Given the description of an element on the screen output the (x, y) to click on. 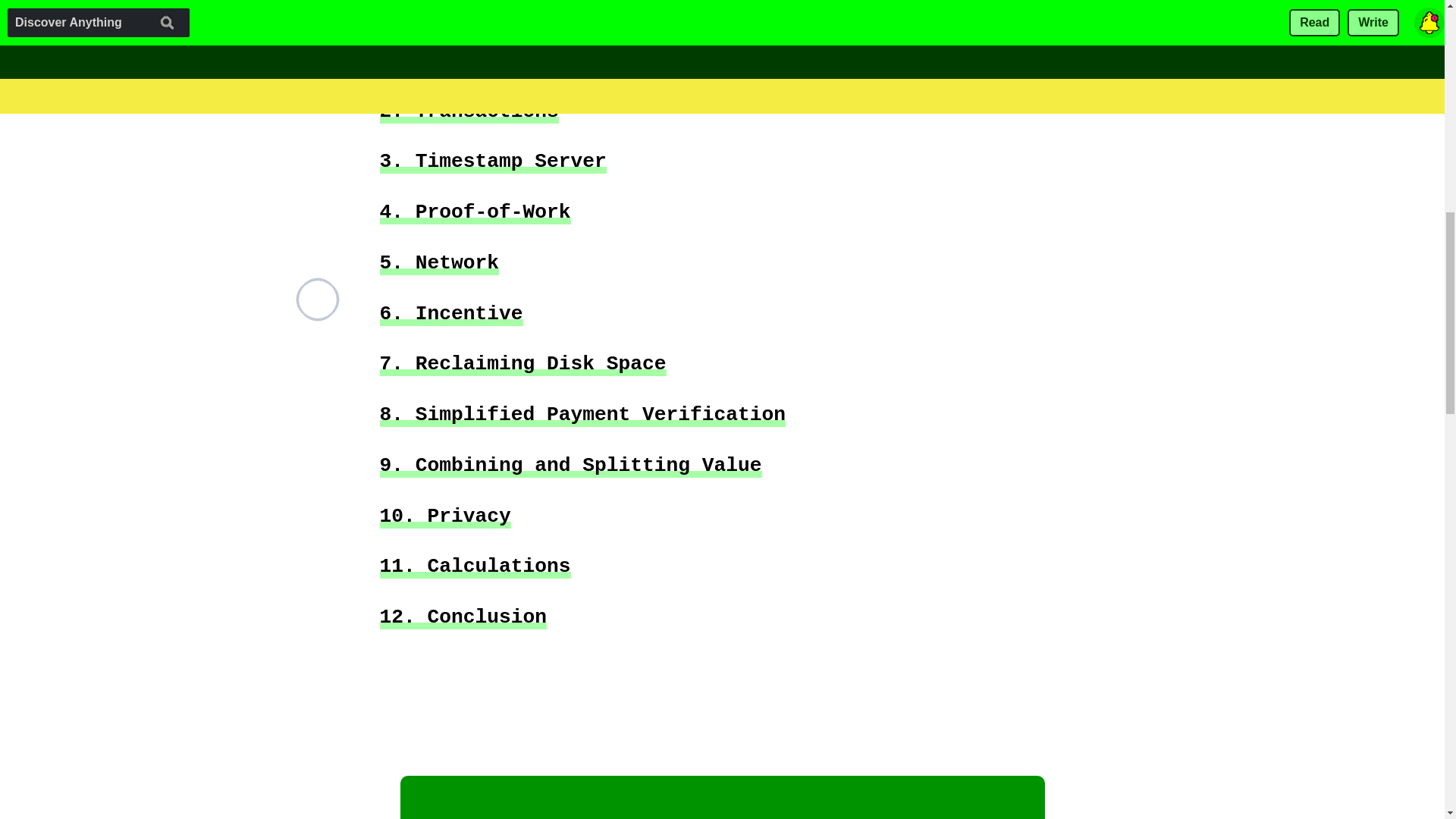
5. Network (438, 262)
11. Calculations (474, 565)
9. Combining and Splitting Value (569, 464)
6. Incentive (450, 313)
1. Introduction (467, 59)
7. Reclaiming Disk Space (521, 363)
8. Simplified Payment Verification (582, 414)
10. Privacy (444, 515)
12. Conclusion (462, 616)
Abstract (426, 11)
